Given the description of an element on the screen output the (x, y) to click on. 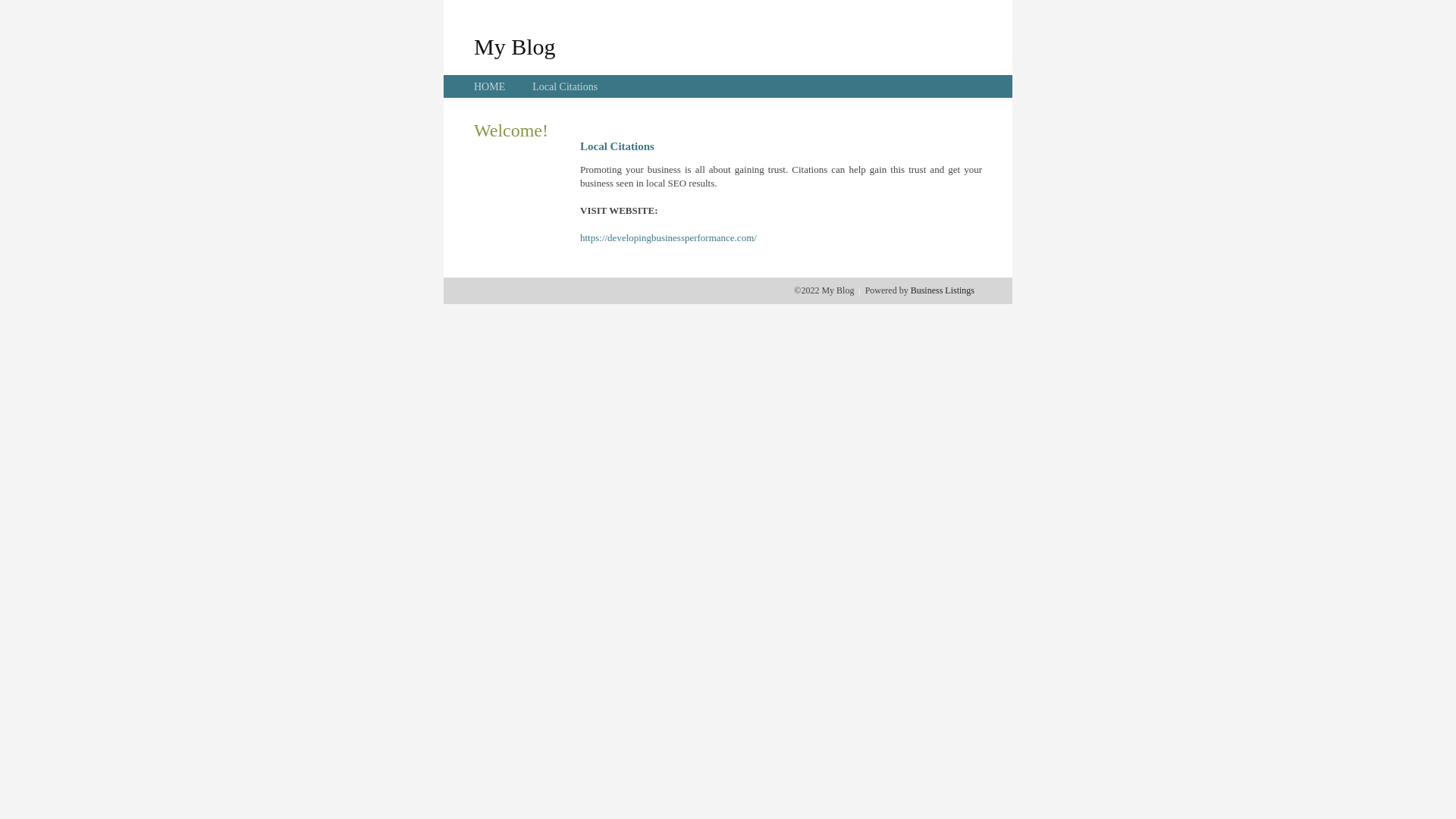
My Blog Element type: text (514, 46)
HOME Element type: text (489, 86)
Business Listings Element type: text (942, 290)
https://developingbusinessperformance.com/ Element type: text (668, 237)
Local Citations Element type: text (564, 86)
